Given the description of an element on the screen output the (x, y) to click on. 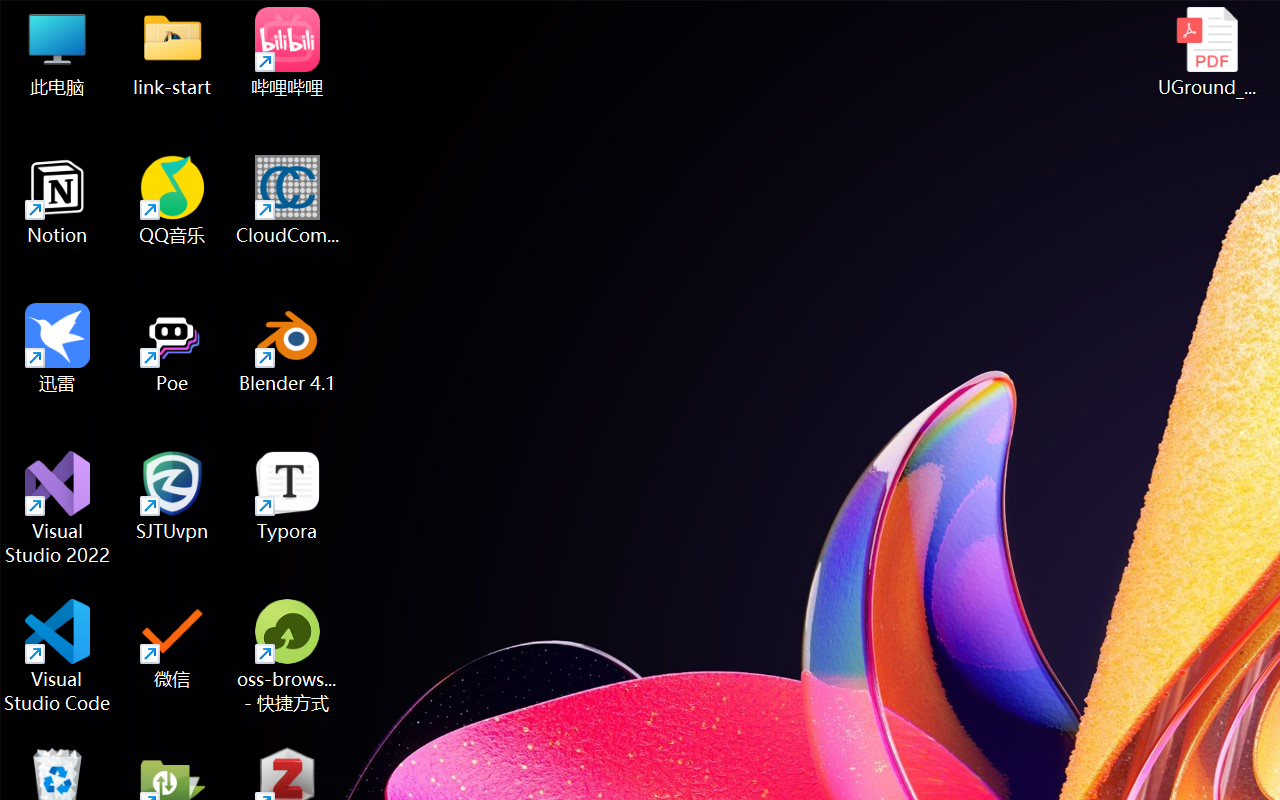
Blender 4.1 (287, 348)
Visual Studio 2022 (57, 508)
UGround_paper.pdf (1206, 52)
CloudCompare (287, 200)
Typora (287, 496)
Visual Studio Code (57, 656)
SJTUvpn (172, 496)
